Given the description of an element on the screen output the (x, y) to click on. 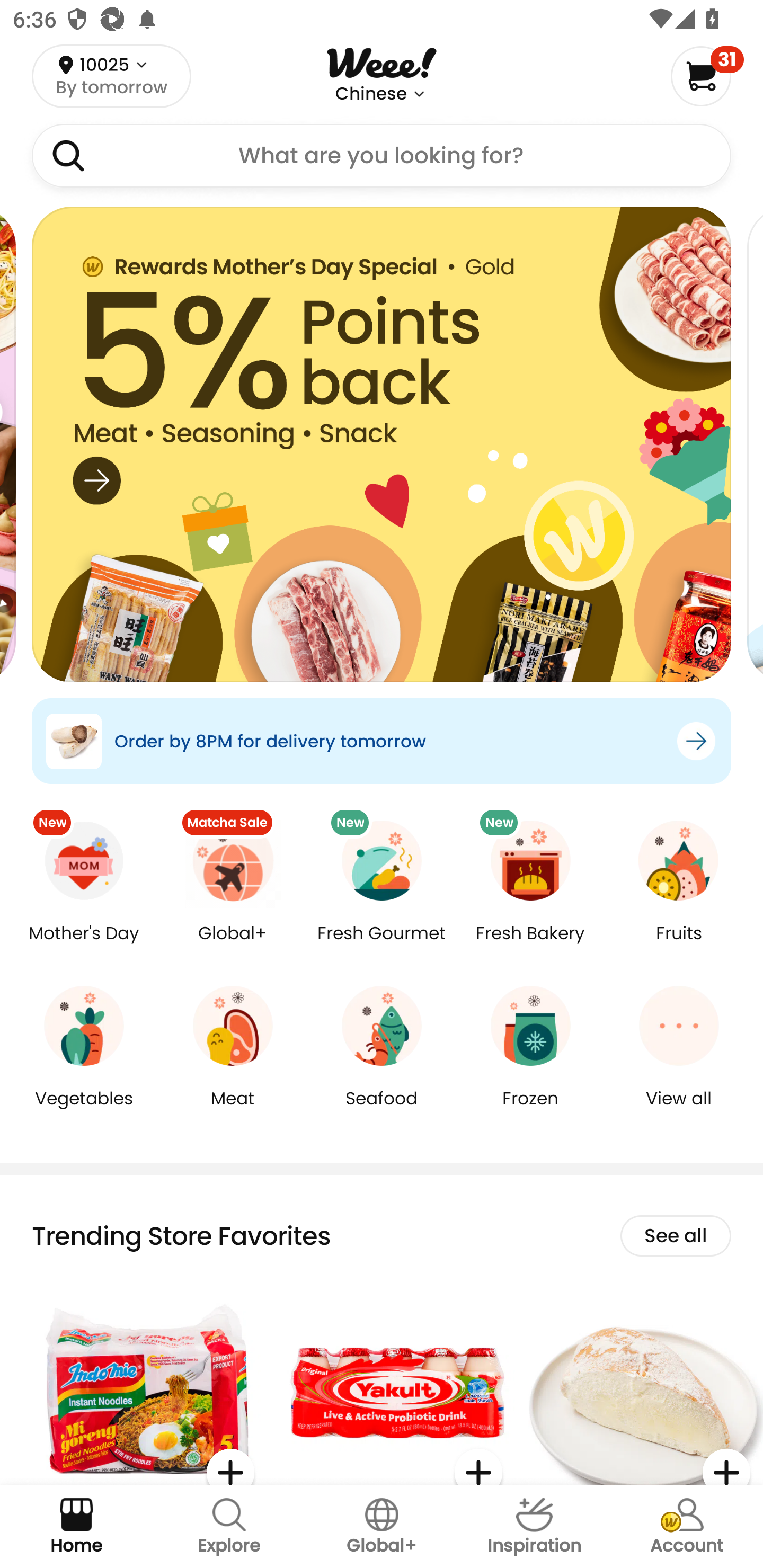
10025 By tomorrow (111, 75)
31 (706, 75)
Chinese (370, 93)
What are you looking for? (381, 155)
Order by 8PM for delivery tomorrow (381, 740)
Mother's Day (83, 946)
Global+ (232, 946)
Fresh Gourmet (381, 946)
Fresh Bakery (530, 946)
Fruits (678, 946)
Vegetables (83, 1111)
Meat (232, 1111)
Seafood (381, 1111)
Frozen (530, 1111)
View all (678, 1111)
Home (76, 1526)
Explore (228, 1526)
Global+ (381, 1526)
Inspiration (533, 1526)
Account (686, 1526)
